Given the description of an element on the screen output the (x, y) to click on. 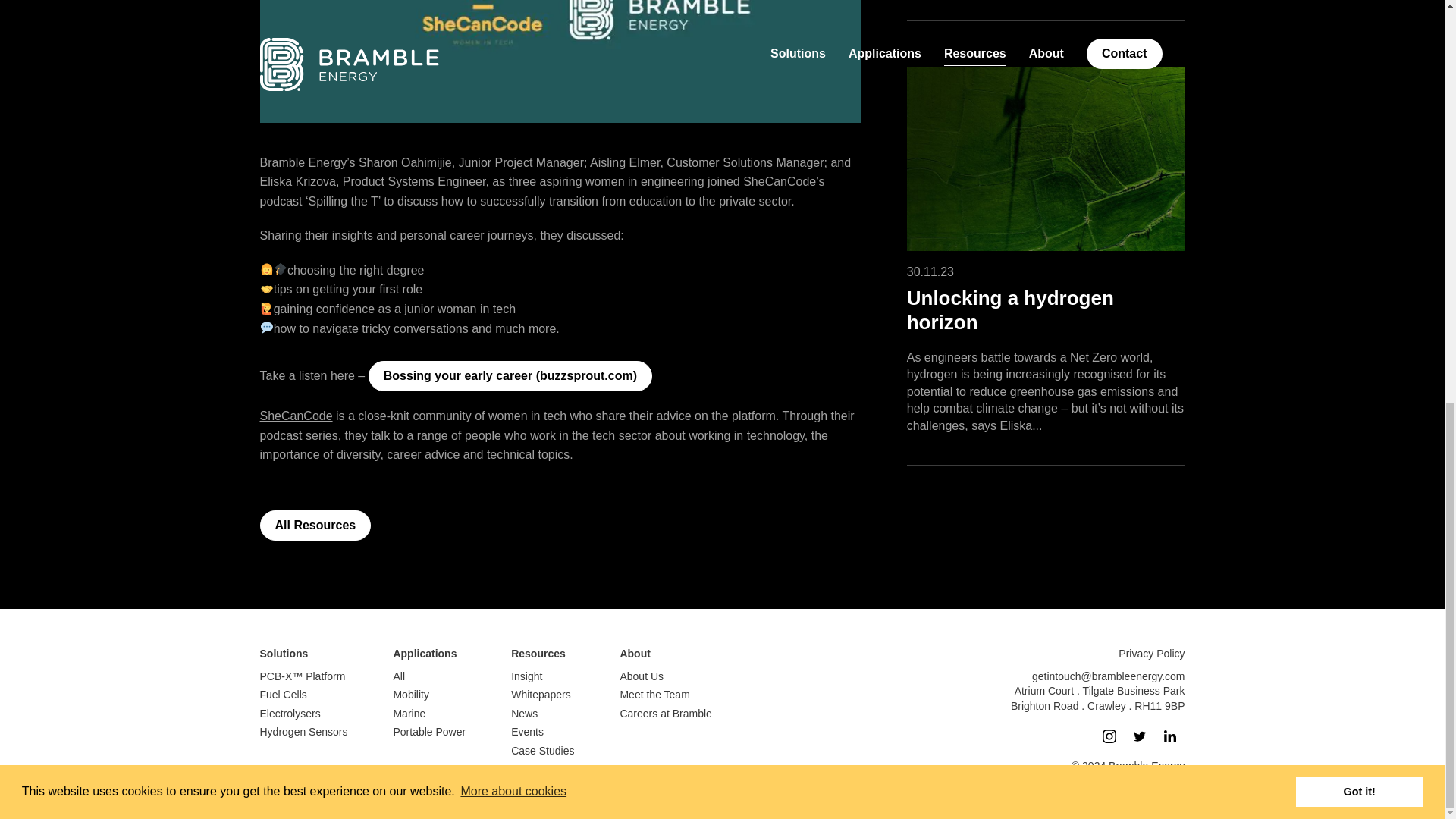
SheCanCode (295, 415)
More about cookies (513, 6)
All Resources (315, 525)
Got it! (1358, 8)
Unlocking a hydrogen horizon (1010, 309)
Solutions (283, 654)
